Given the description of an element on the screen output the (x, y) to click on. 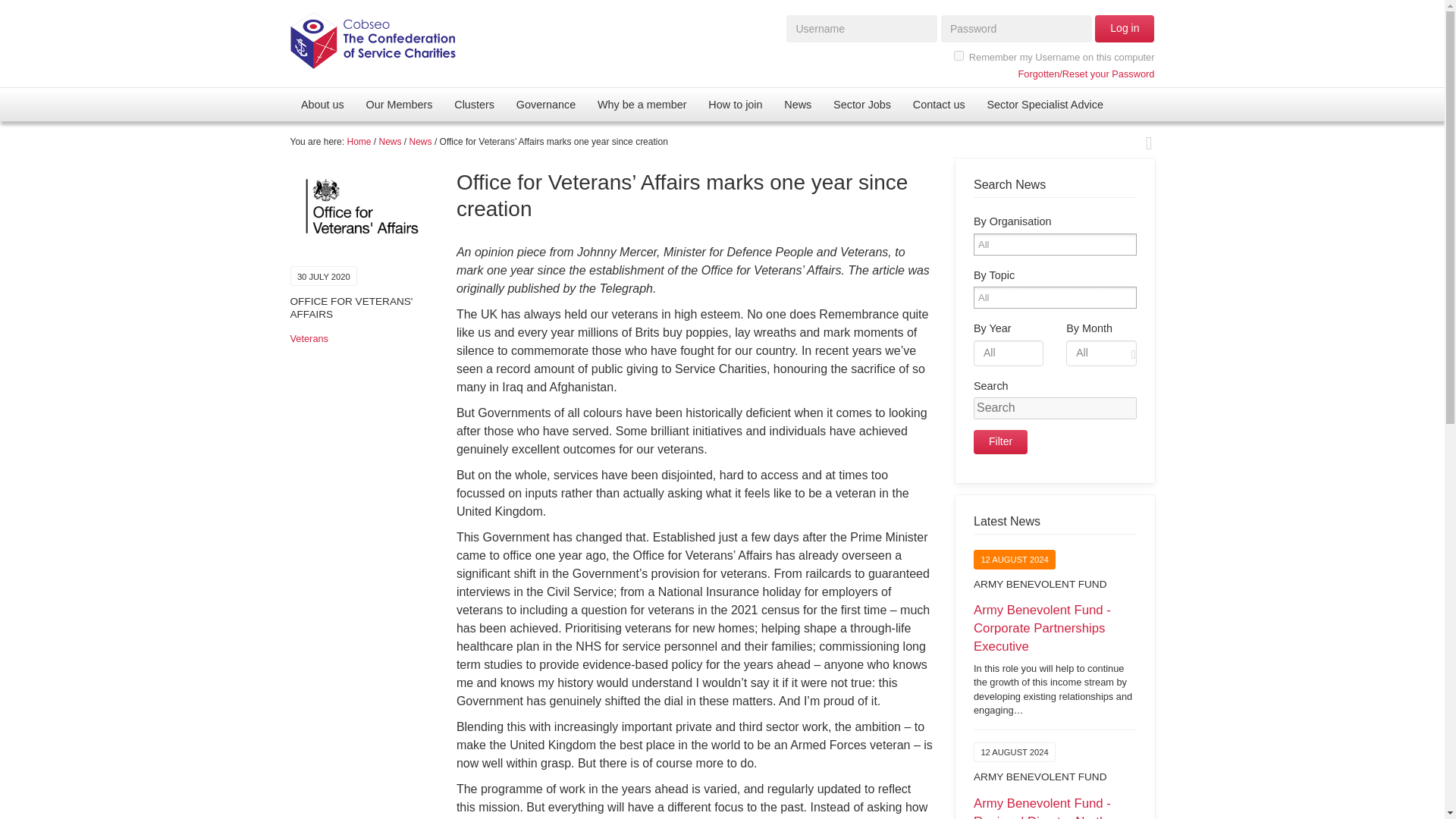
How to join (735, 104)
All (992, 244)
forever (958, 55)
Look Army Benevolent Fund - Corporate Partnerships Executive (1055, 659)
About us (322, 104)
Sector Specialist Advice (1044, 104)
Our Members (399, 104)
Look Army Benevolent Fund - Regional Director North West (1055, 806)
Log in (1124, 28)
Filter (1000, 441)
